Given the description of an element on the screen output the (x, y) to click on. 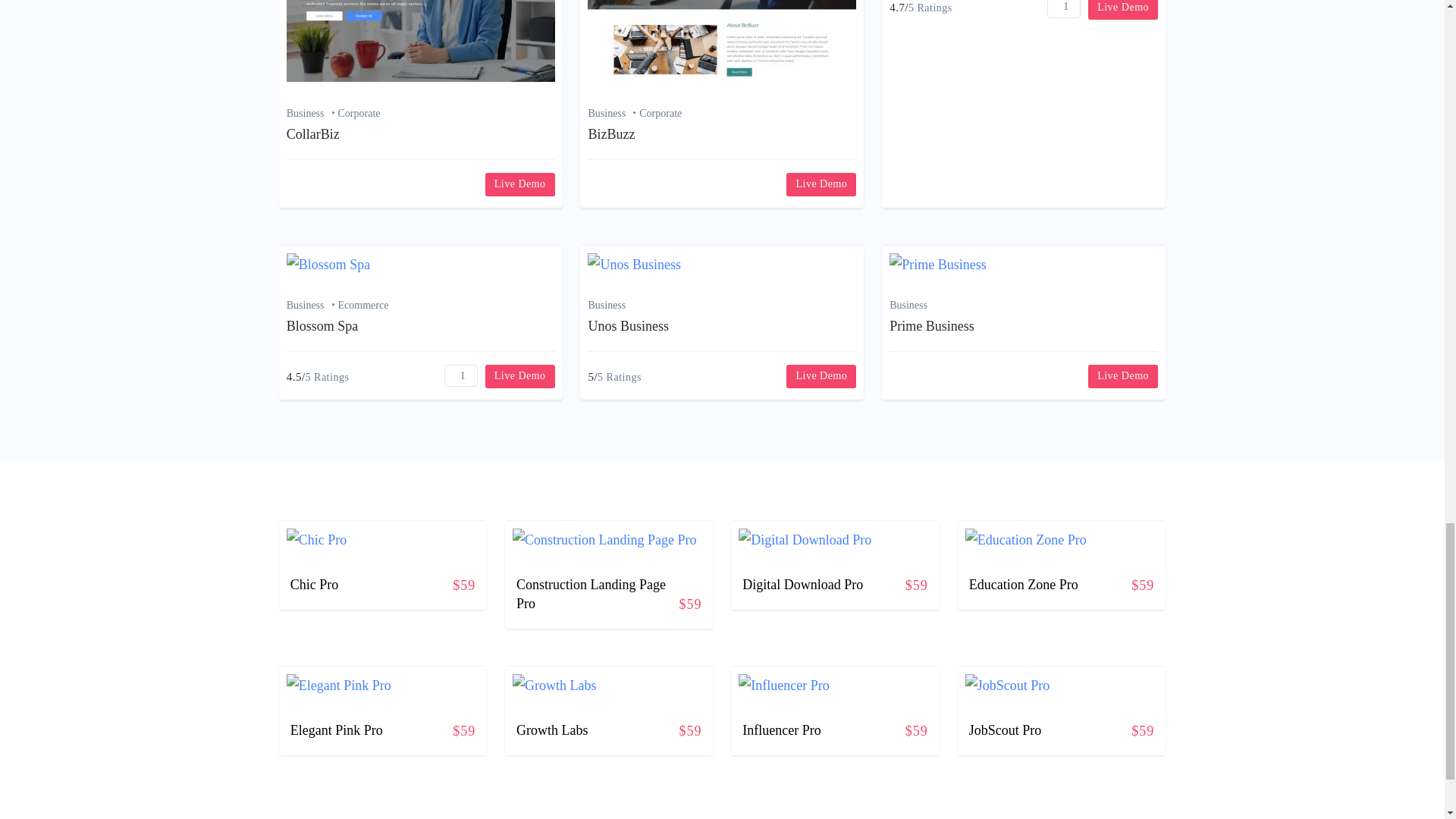
Business (311, 113)
Business (613, 113)
Live Demo (519, 184)
CollarBiz (312, 133)
Live Demo (821, 184)
BizBuzz (611, 133)
Corporate (358, 113)
Corporate (660, 113)
